Given the description of an element on the screen output the (x, y) to click on. 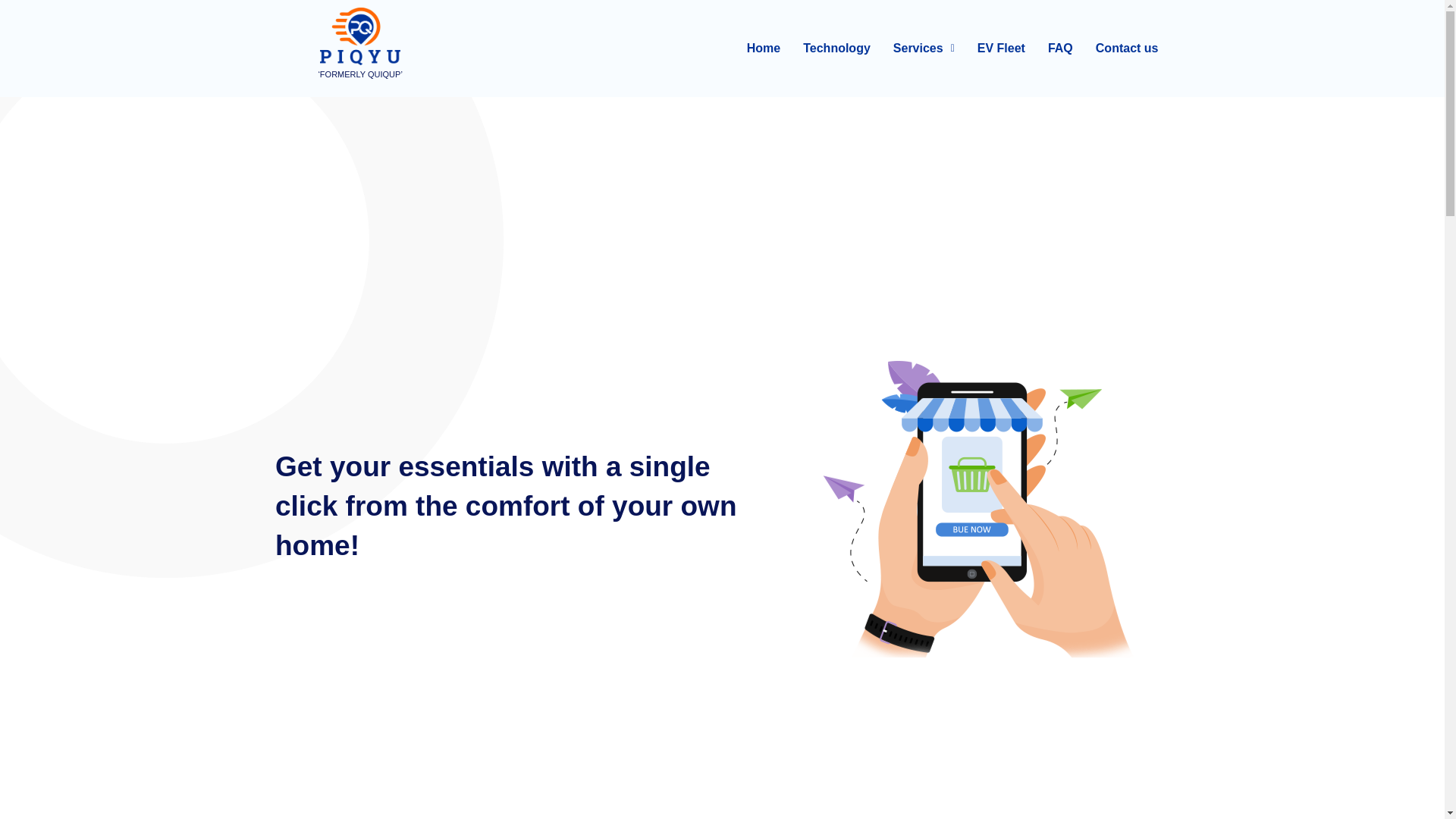
Services (924, 48)
Technology (837, 48)
Contact us (1127, 48)
EV Fleet (1001, 48)
FAQ (1060, 48)
Home (763, 48)
